Given the description of an element on the screen output the (x, y) to click on. 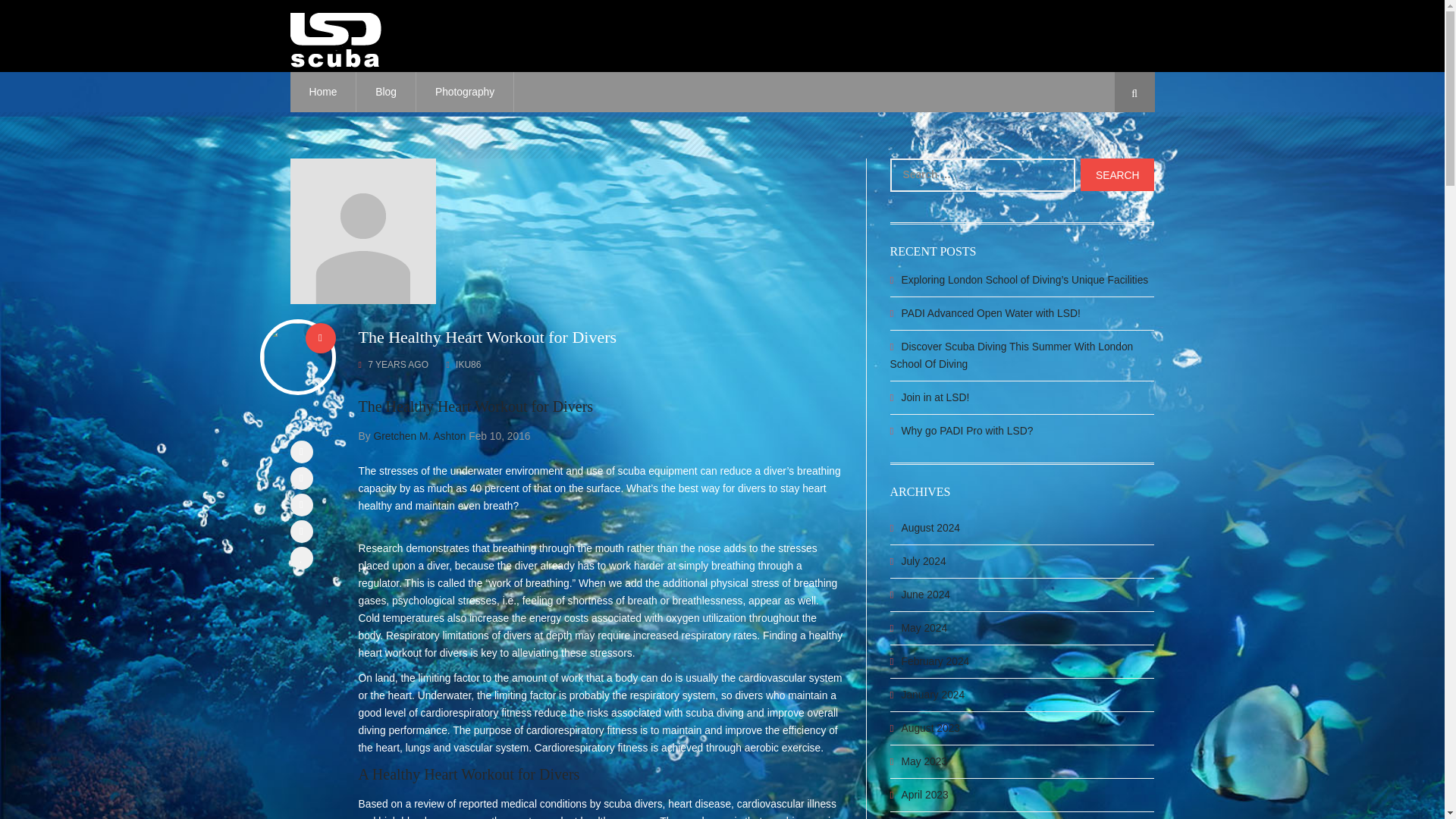
August 2024 (930, 527)
April 2023 (925, 794)
Search (1117, 174)
Blog (386, 92)
Home (322, 92)
Gretchen M. Ashton (418, 436)
August 2023 (930, 727)
May 2023 (924, 761)
February 2024 (935, 661)
January 2024 (933, 695)
